Given the description of an element on the screen output the (x, y) to click on. 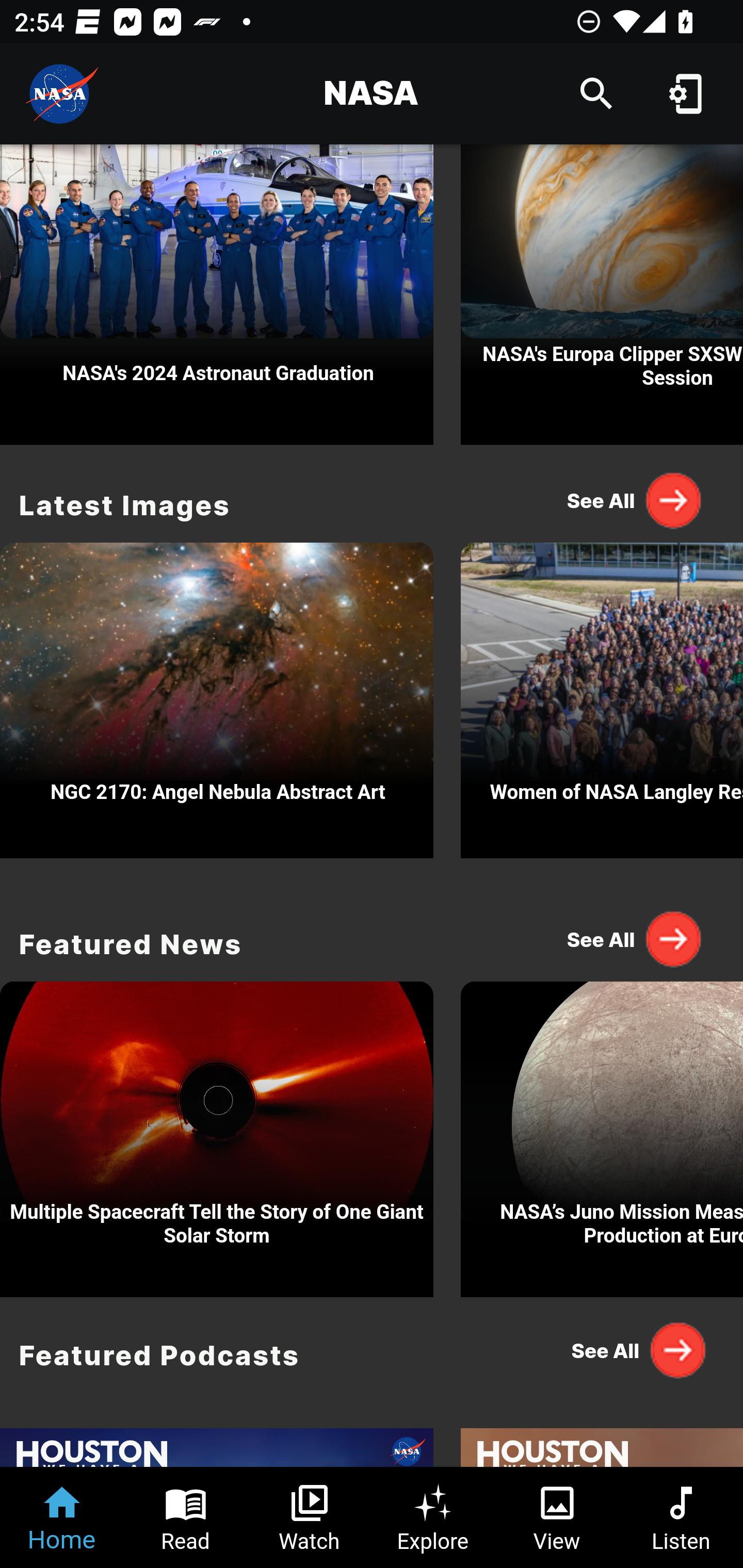
NASA's 2024 Astronaut Graduation (216, 294)
NASA's Europa Clipper SXSW 2024 Opening Session (601, 294)
See All (634, 500)
NGC 2170: Angel Nebula Abstract Art (216, 695)
Women of NASA Langley Research Center (601, 695)
See All (634, 938)
See All (634, 1349)
Home
Tab 1 of 6 (62, 1517)
Read
Tab 2 of 6 (185, 1517)
Watch
Tab 3 of 6 (309, 1517)
Explore
Tab 4 of 6 (433, 1517)
View
Tab 5 of 6 (556, 1517)
Listen
Tab 6 of 6 (680, 1517)
